Given the description of an element on the screen output the (x, y) to click on. 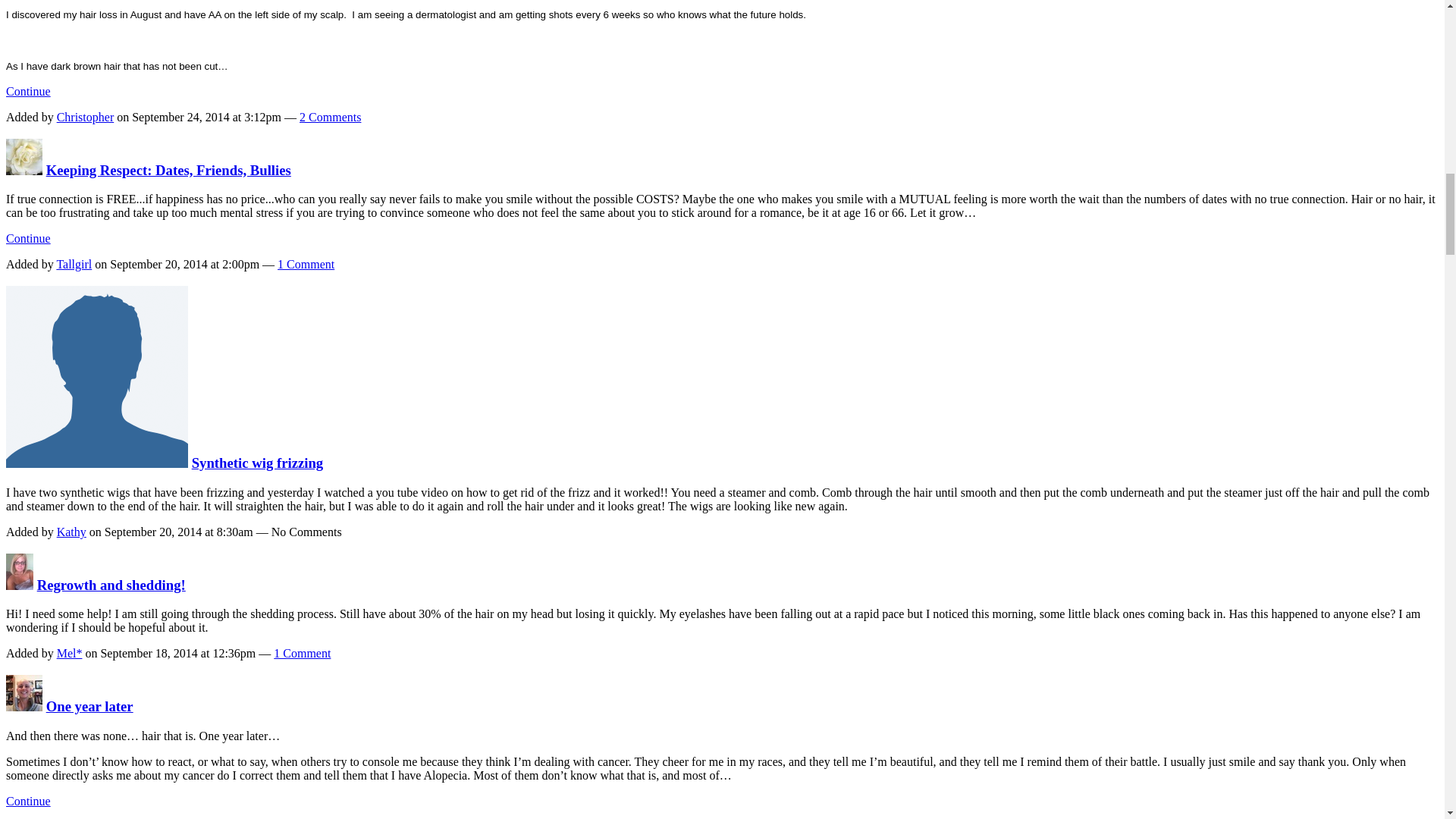
Kathy (96, 462)
Continue (27, 91)
Tallgirl (23, 170)
Christopher (85, 116)
Jennifer (23, 706)
